Given the description of an element on the screen output the (x, y) to click on. 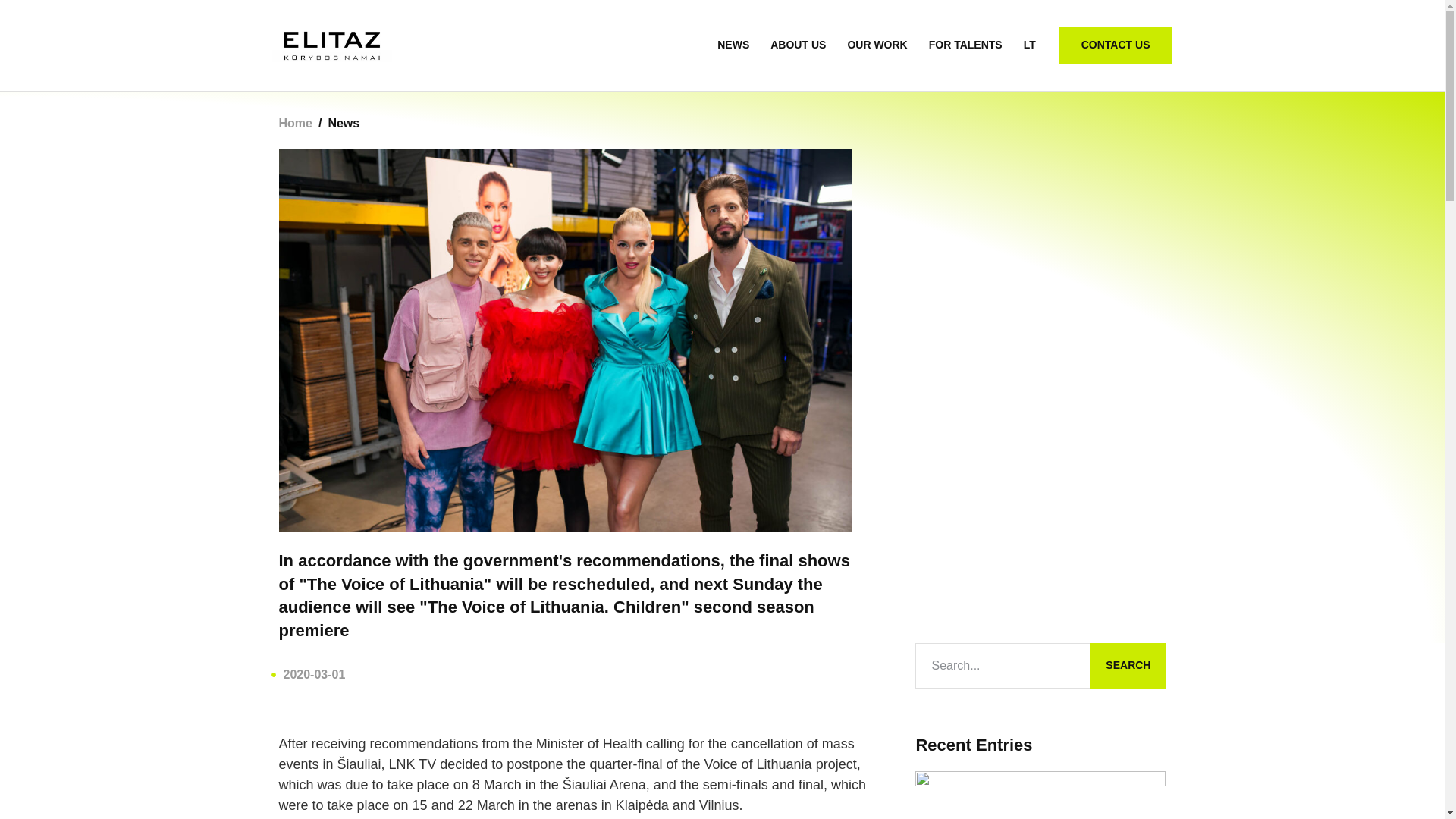
2020-03-01 (308, 674)
Home (296, 122)
News (343, 122)
SEARCH (1128, 665)
CONTACT US (1115, 45)
